Given the description of an element on the screen output the (x, y) to click on. 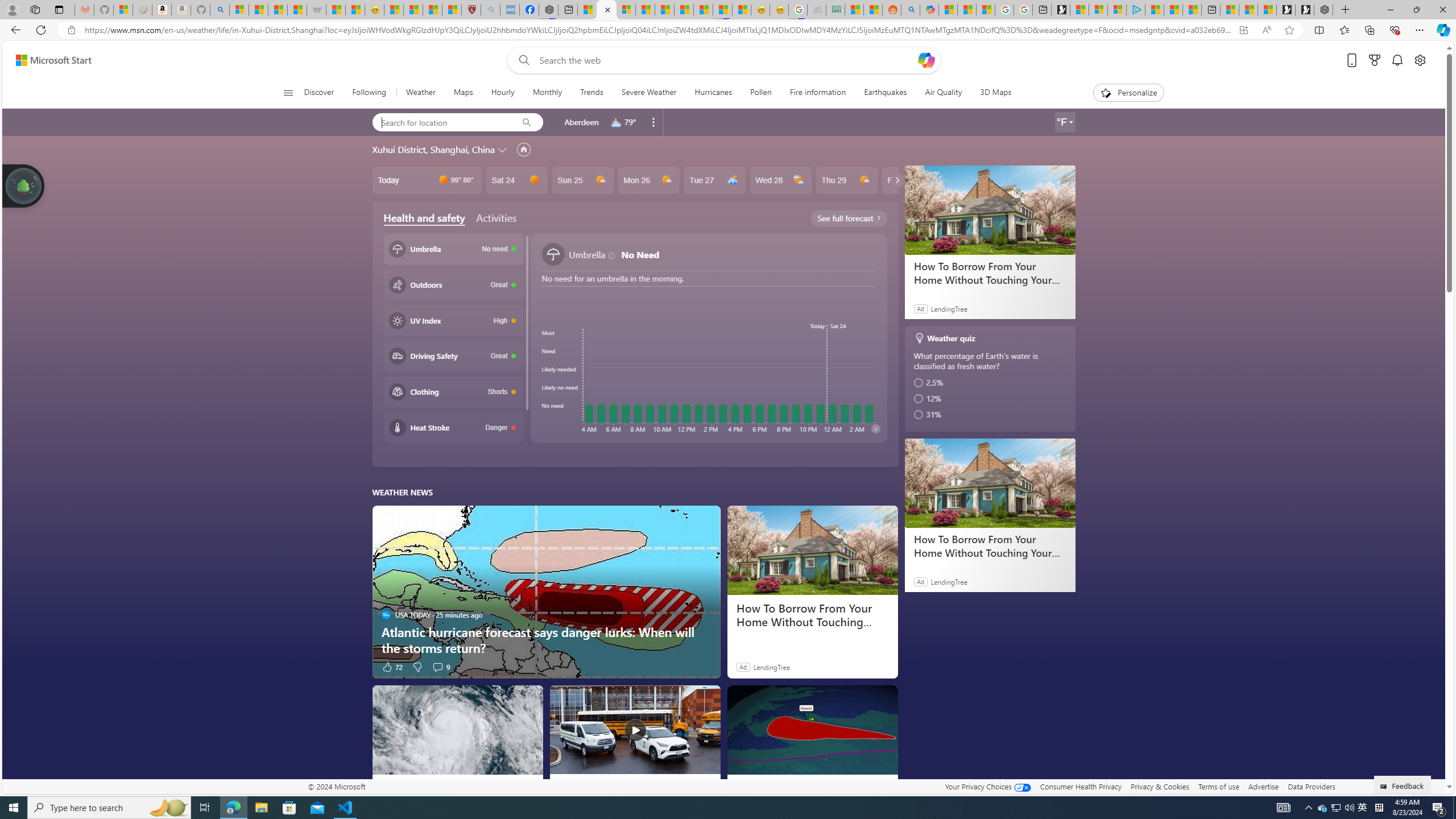
Wed 28 (779, 180)
Severe Weather (648, 92)
Fri 30 (911, 180)
Wed 28 (779, 180)
USA TODAY (385, 785)
